Given the description of an element on the screen output the (x, y) to click on. 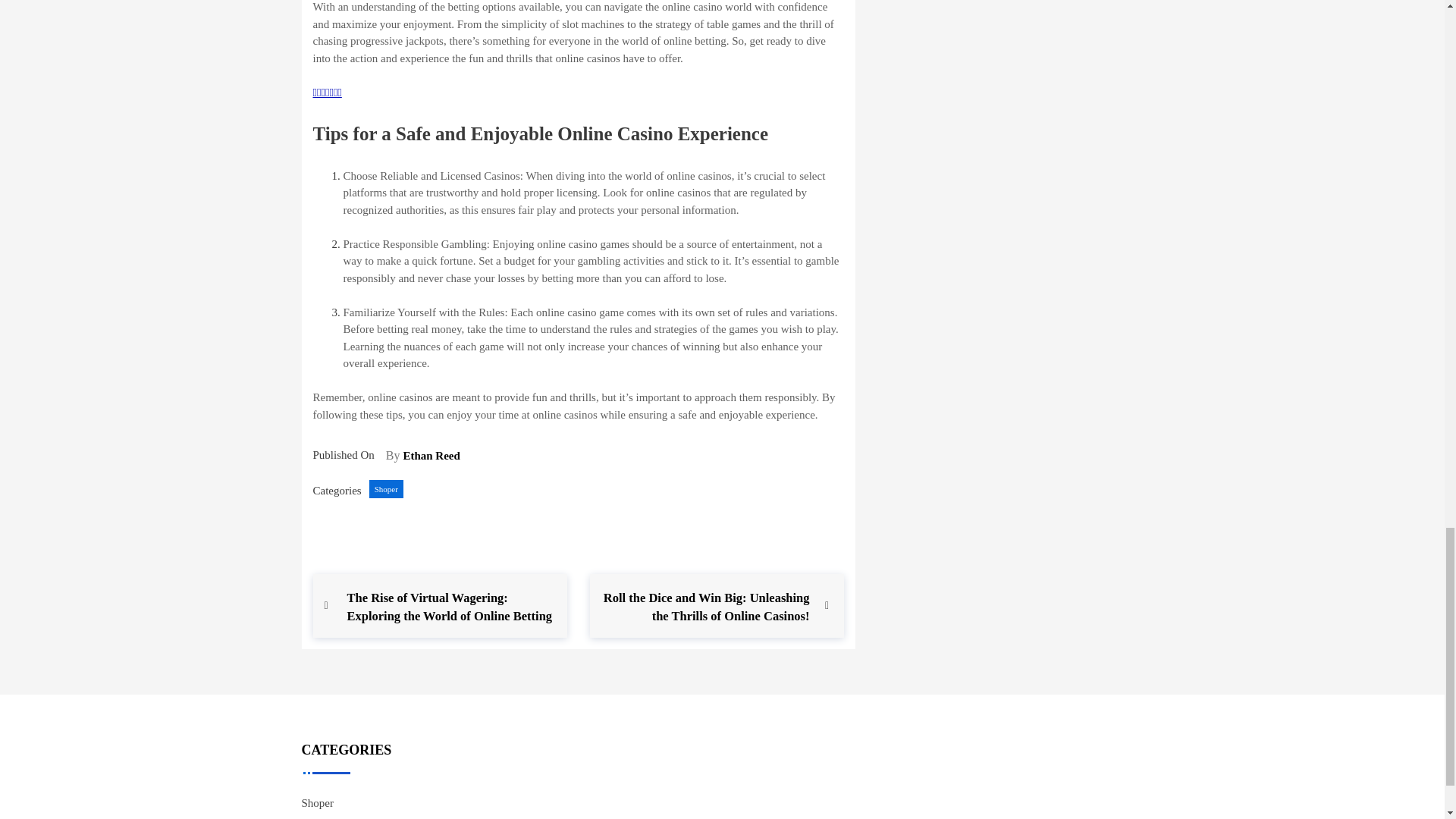
Shoper (386, 488)
Ethan Reed (431, 455)
Shoper (317, 802)
